Given the description of an element on the screen output the (x, y) to click on. 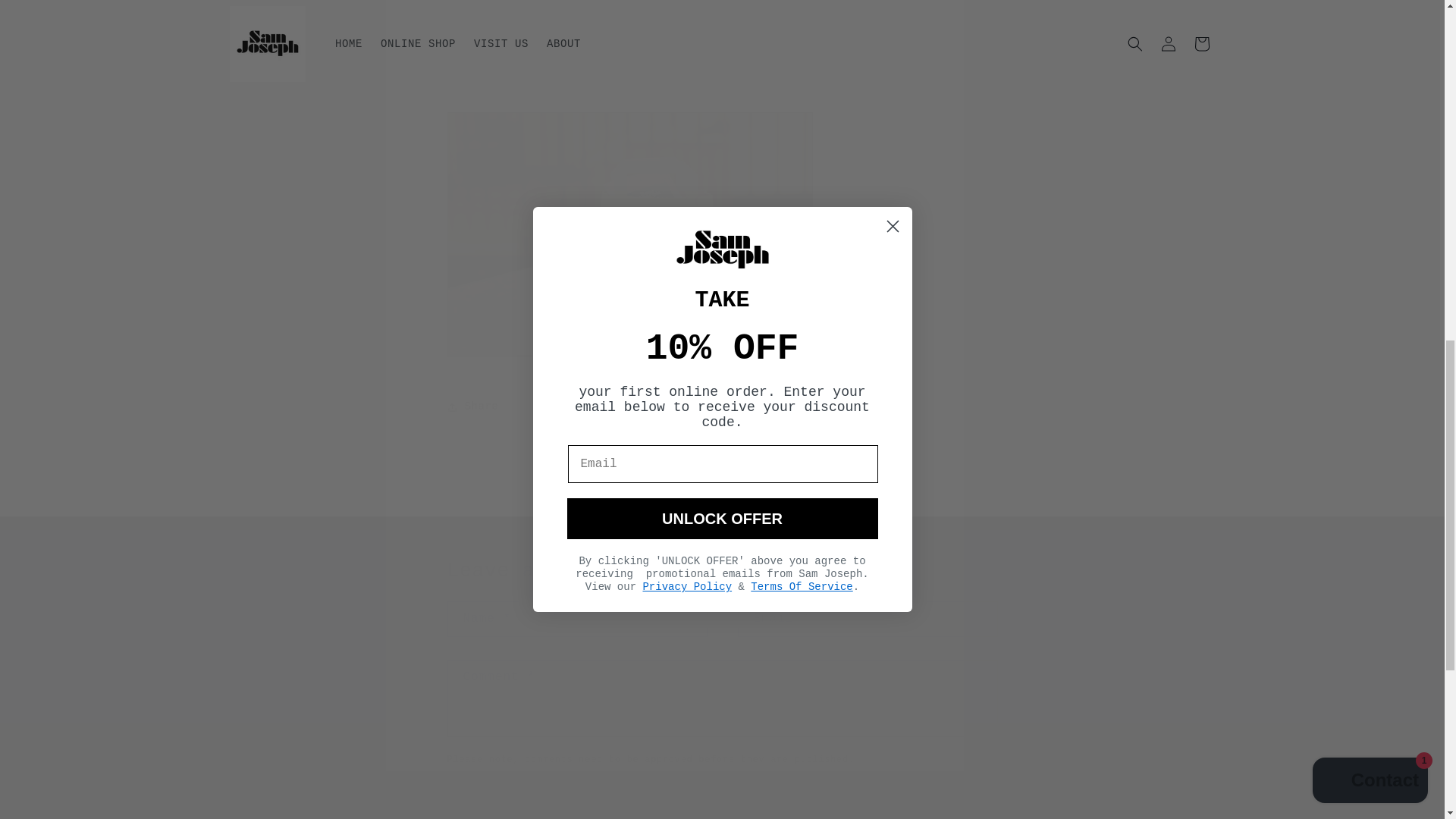
Post comment (514, 802)
Post comment (514, 802)
Share (721, 407)
